Given the description of an element on the screen output the (x, y) to click on. 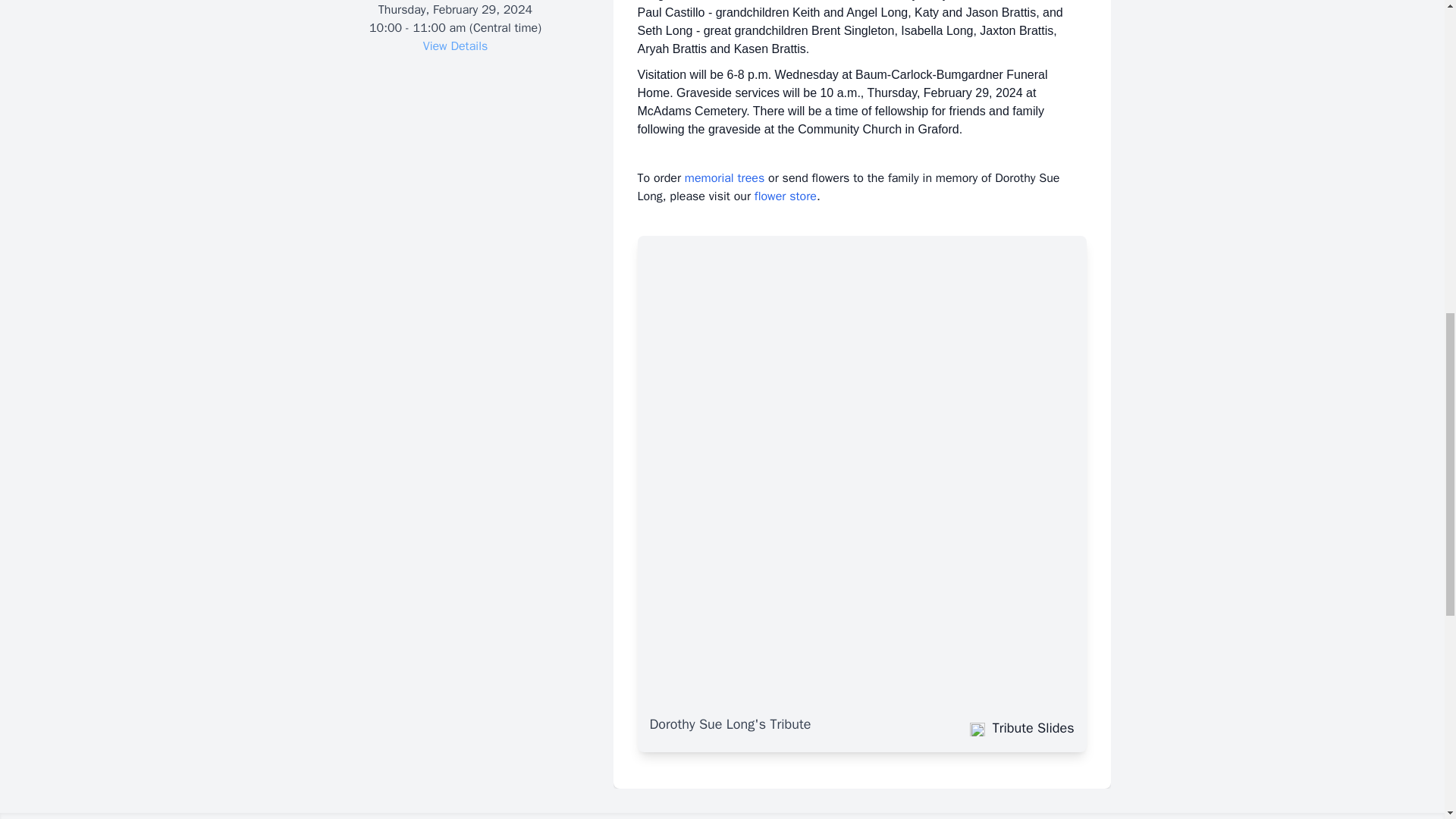
flower store (785, 196)
memorial trees (724, 177)
View Details (455, 46)
